Given the description of an element on the screen output the (x, y) to click on. 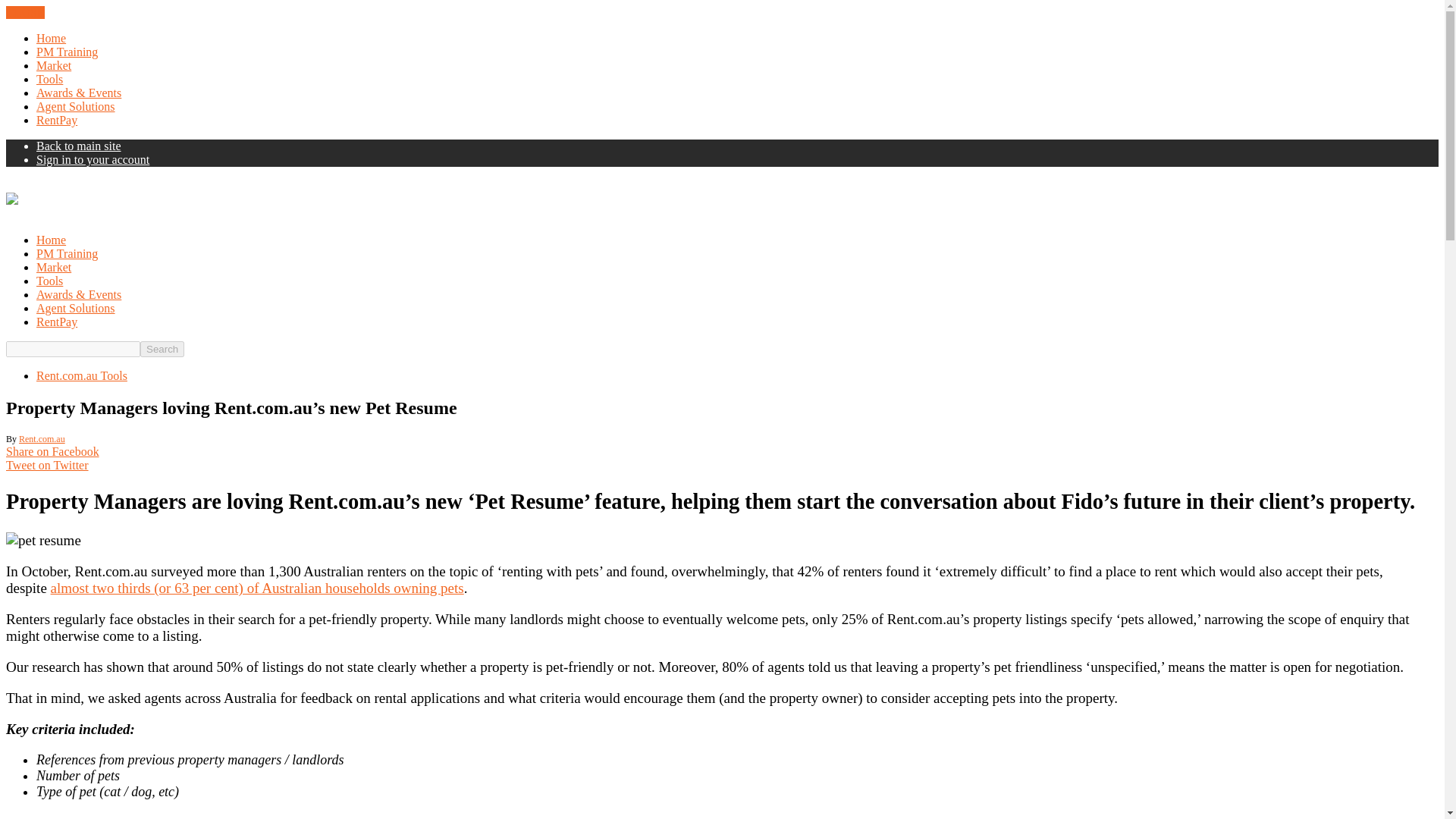
CLOSE (25, 11)
Search (161, 349)
PM Training (66, 51)
Market (53, 65)
PM Training (66, 253)
Search (161, 349)
Agent Solutions (75, 308)
Agent Solutions (75, 106)
Market (53, 267)
Home (50, 38)
